Given the description of an element on the screen output the (x, y) to click on. 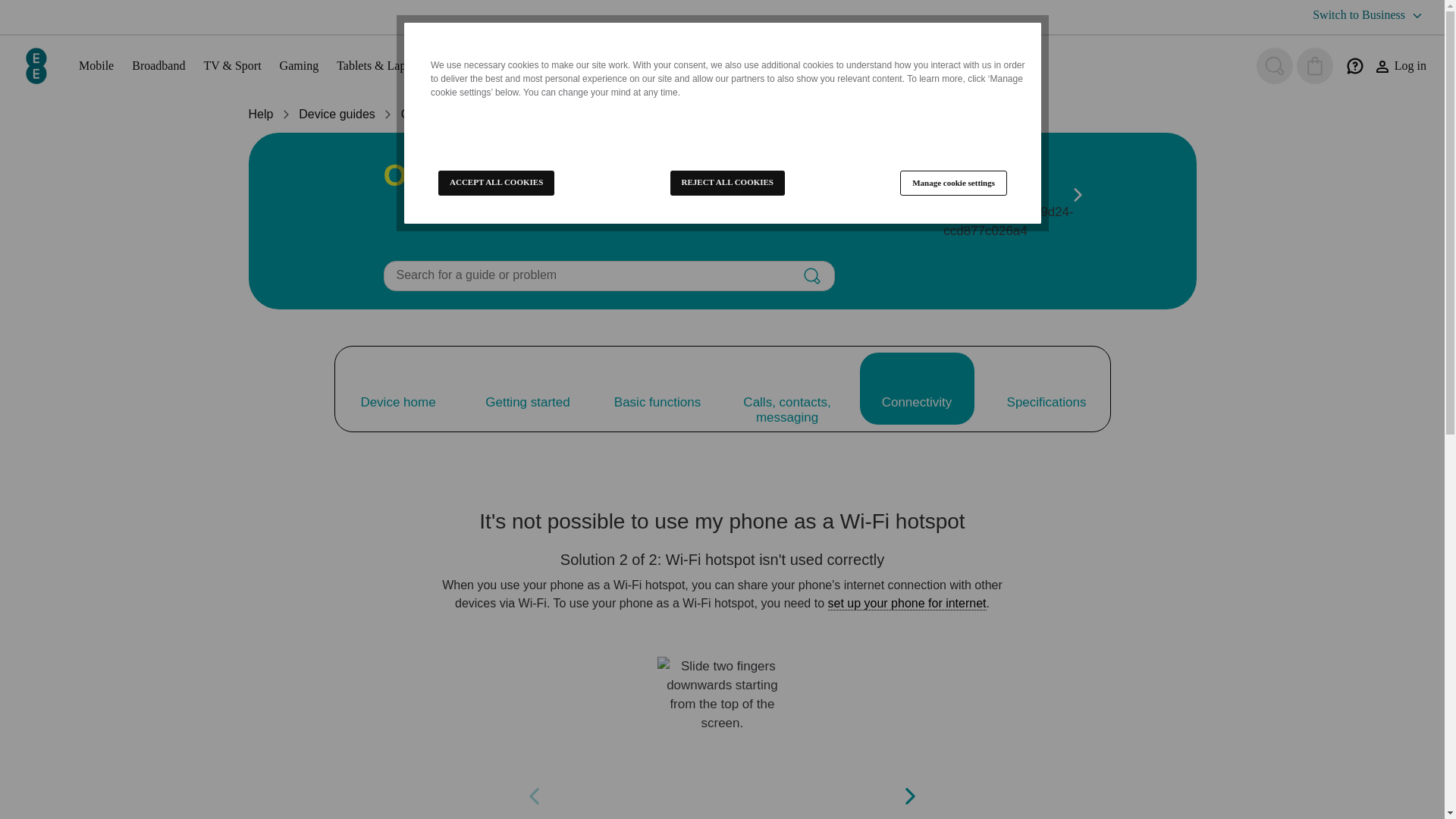
Security (464, 65)
Find X3 Neo (495, 113)
Switch to Business (1369, 15)
Log in (1399, 66)
Summer Sale (684, 65)
set up your phone for internet (907, 603)
Smart Tech (529, 65)
Device guides (336, 113)
OPPO (418, 113)
Mobile (95, 65)
Device home (397, 388)
Broadband (158, 65)
Specifications (1045, 388)
